Given the description of an element on the screen output the (x, y) to click on. 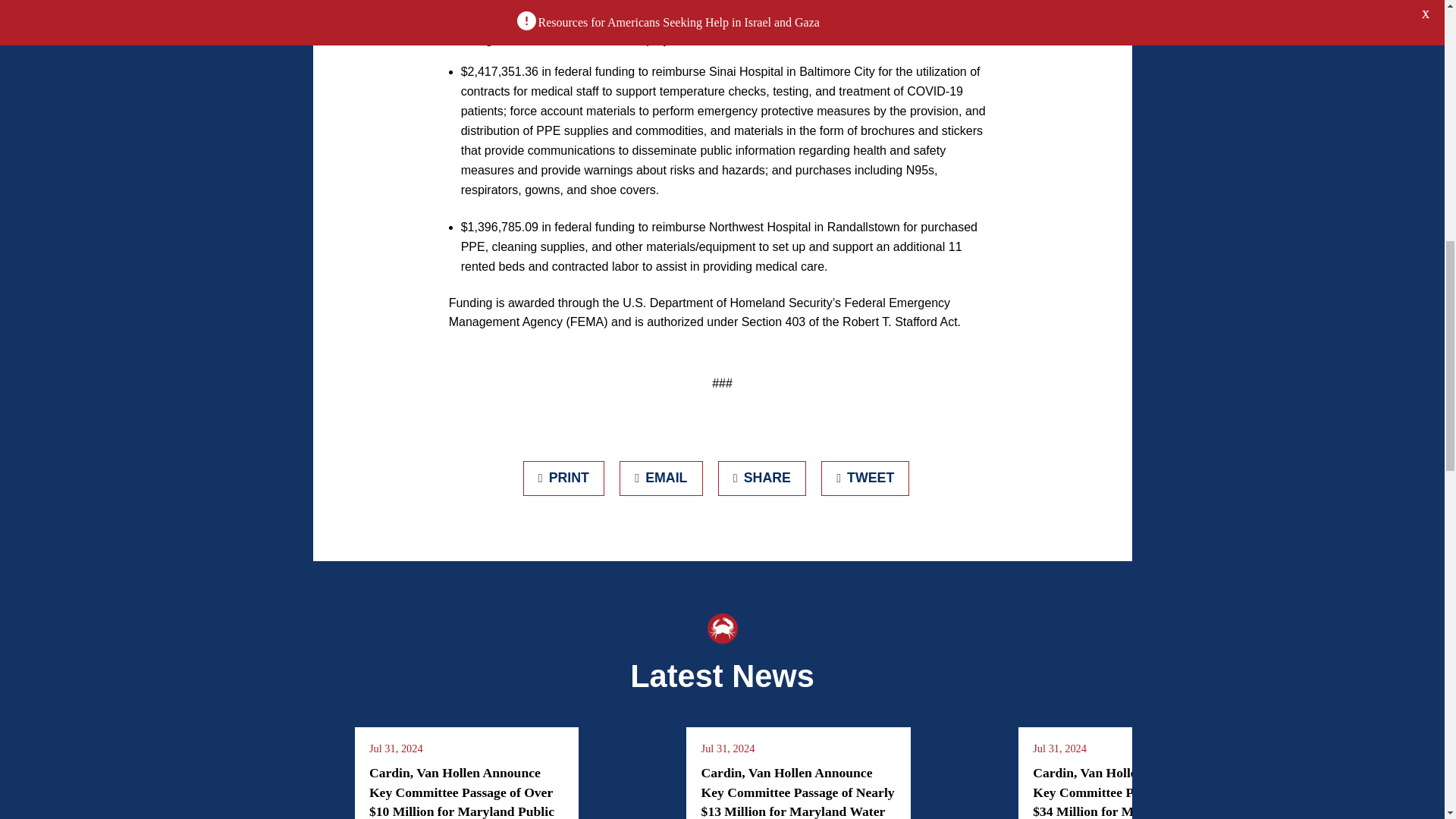
Share on Facebook (761, 478)
Tweet (865, 478)
Email (661, 478)
Crab (721, 628)
Print (563, 478)
